Given the description of an element on the screen output the (x, y) to click on. 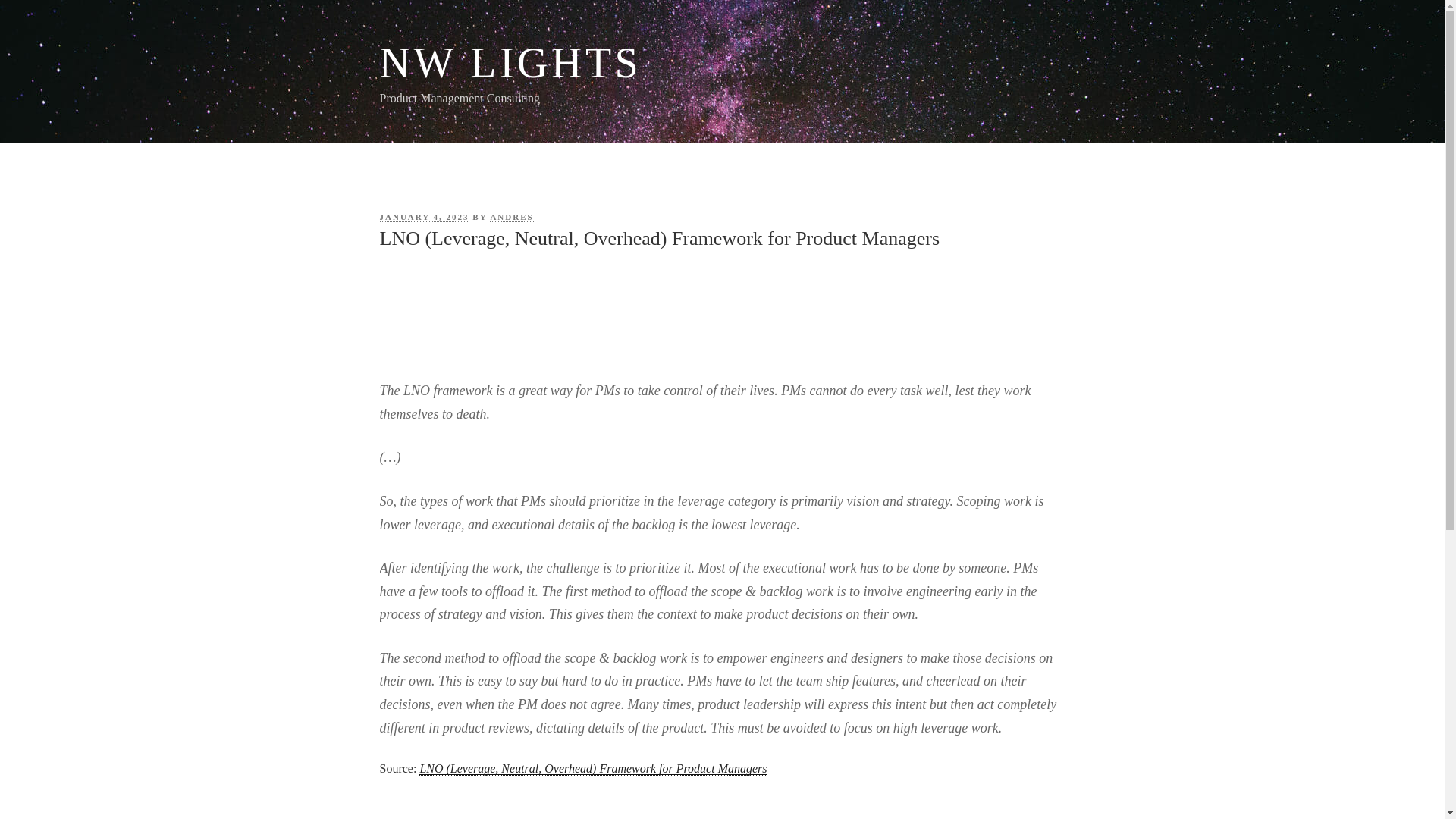
JANUARY 4, 2023 (423, 216)
ANDRES (510, 216)
NW LIGHTS (510, 62)
